Given the description of an element on the screen output the (x, y) to click on. 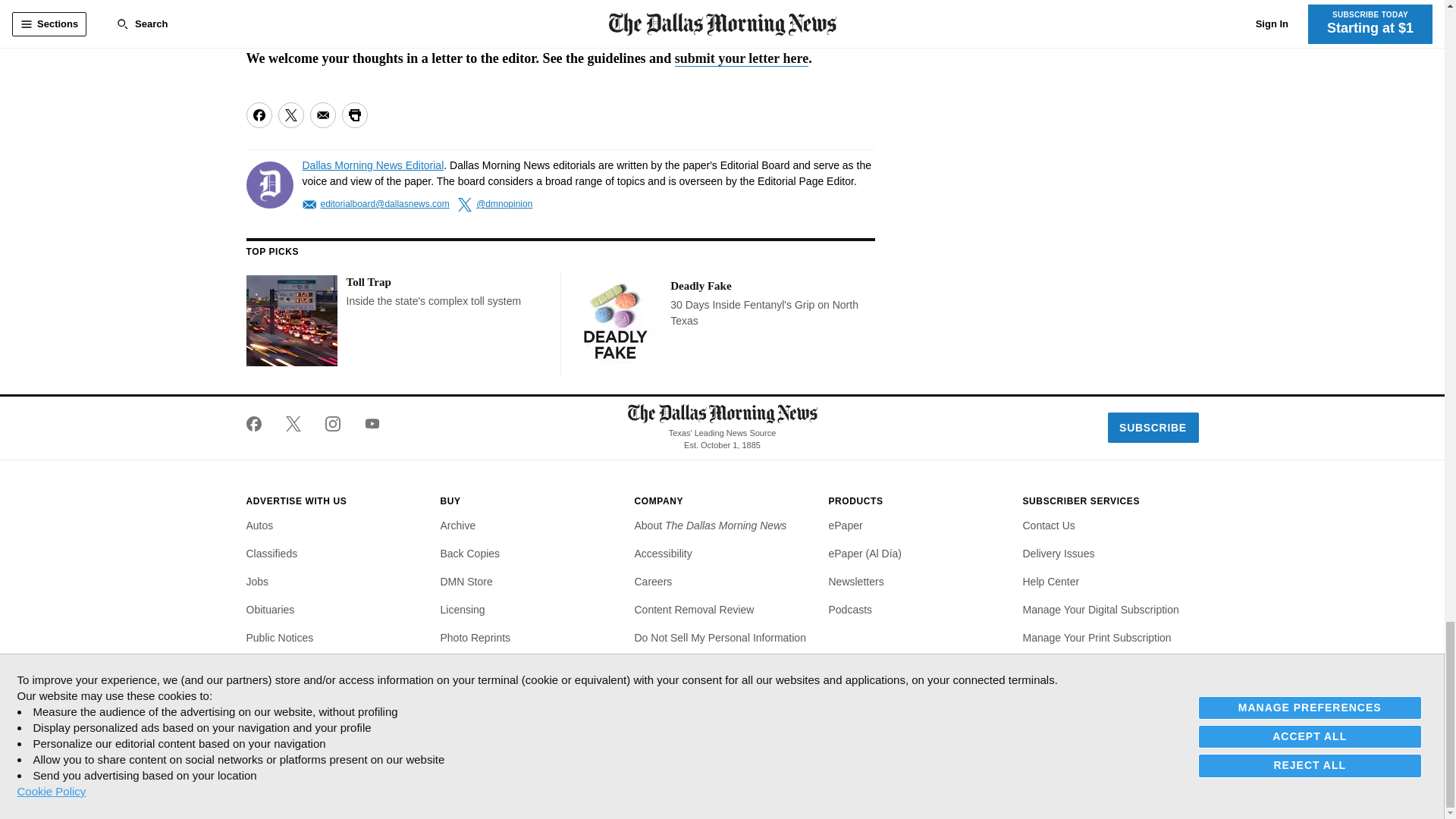
Share on Twitter (290, 114)
The Dallas Morning News on Instagram (332, 423)
Print (353, 114)
Share via Email (321, 114)
The Dallas Morning News on Facebook (259, 423)
Share on Facebook (258, 114)
The Dallas Morning News on YouTube (365, 423)
The Dallas Morning News on Twitter (293, 423)
